Given the description of an element on the screen output the (x, y) to click on. 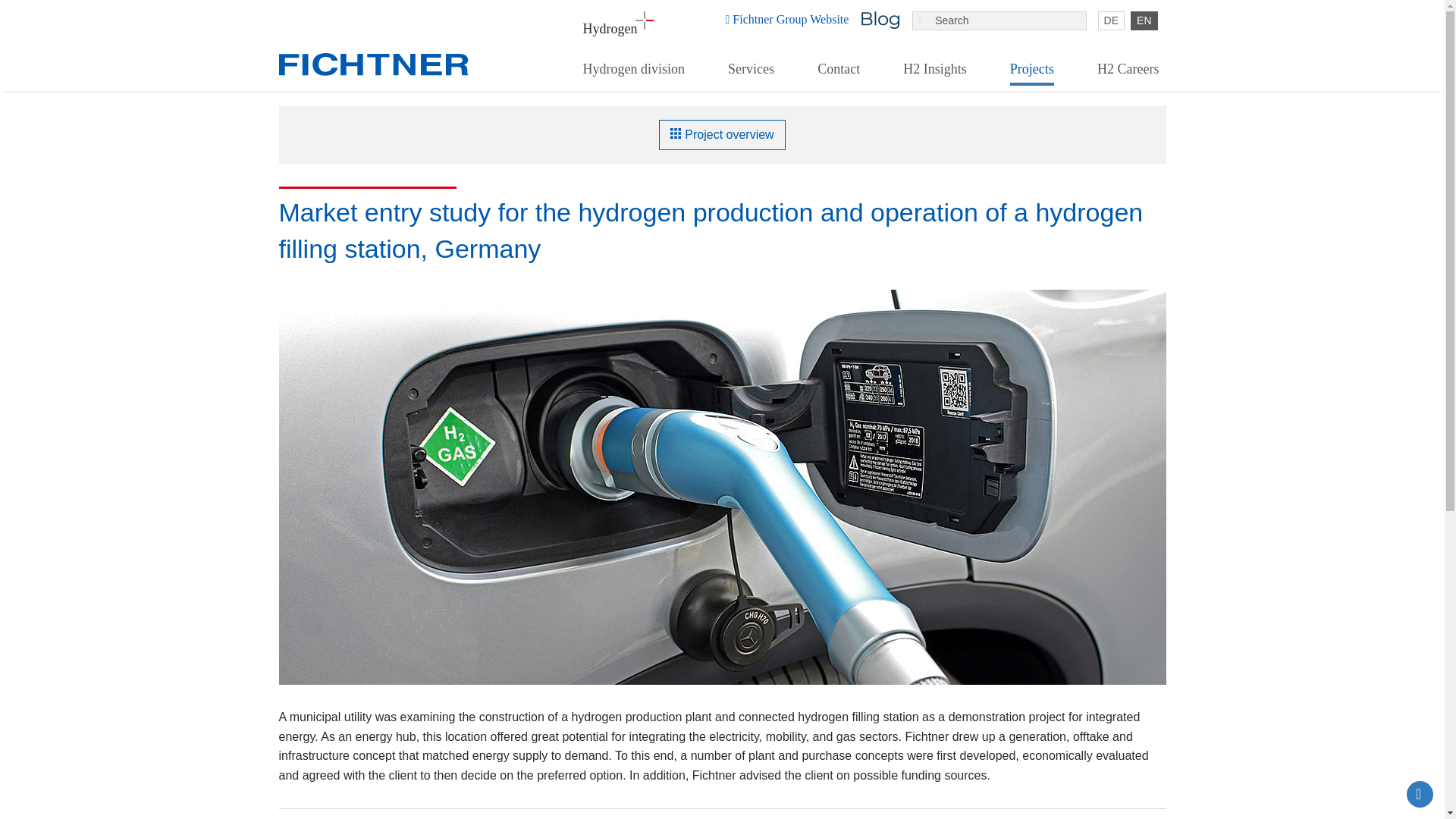
H2 Careers (1127, 71)
Go to the Fichtner blog (880, 19)
Services (750, 71)
Contact (838, 71)
Hydrogen division (632, 71)
Fichtner Group Website (786, 27)
H2 Insights (935, 71)
EN (1144, 20)
Projects (1031, 71)
DE (1110, 20)
